Given the description of an element on the screen output the (x, y) to click on. 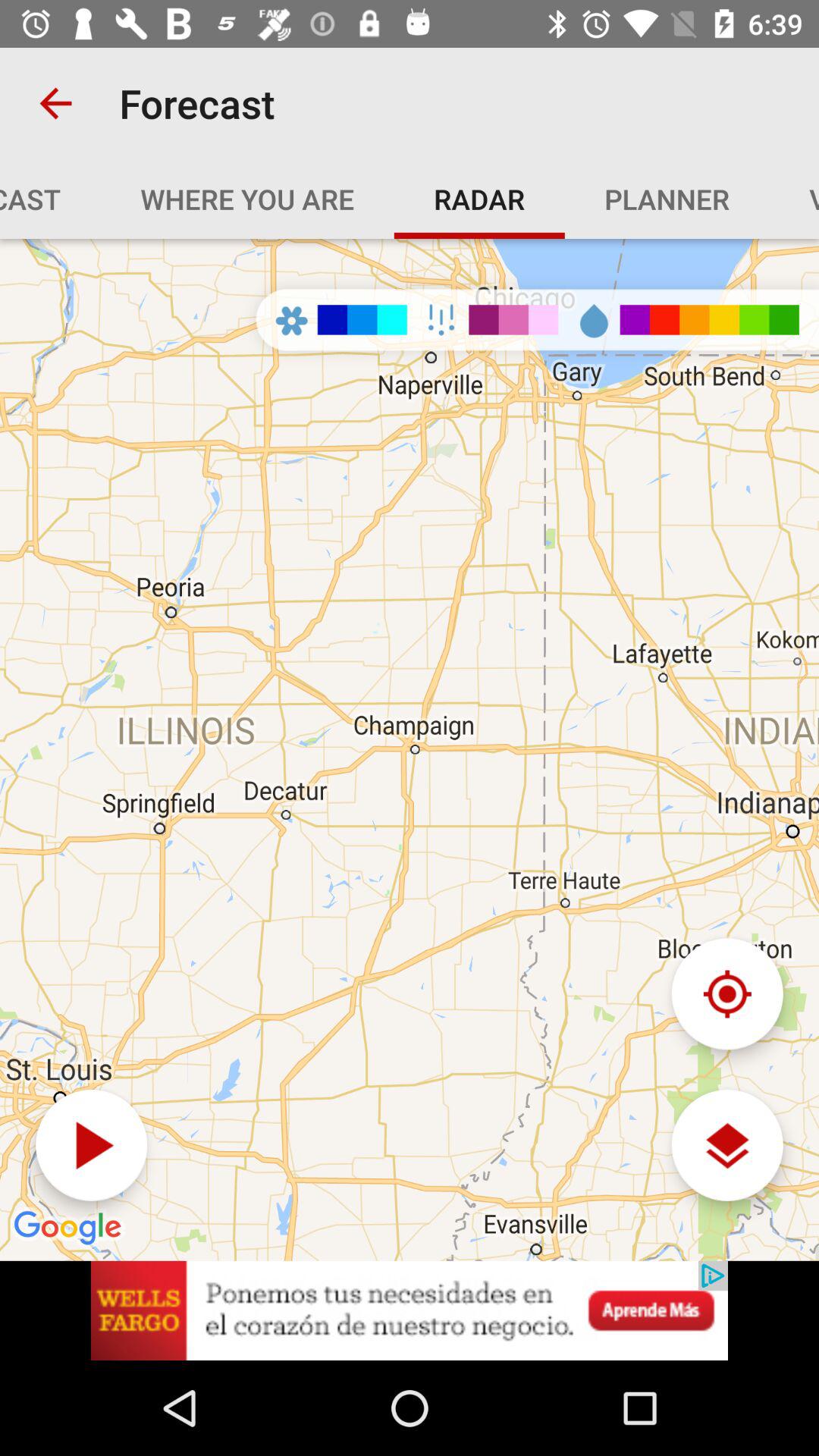
advertisement banner (409, 1310)
